Given the description of an element on the screen output the (x, y) to click on. 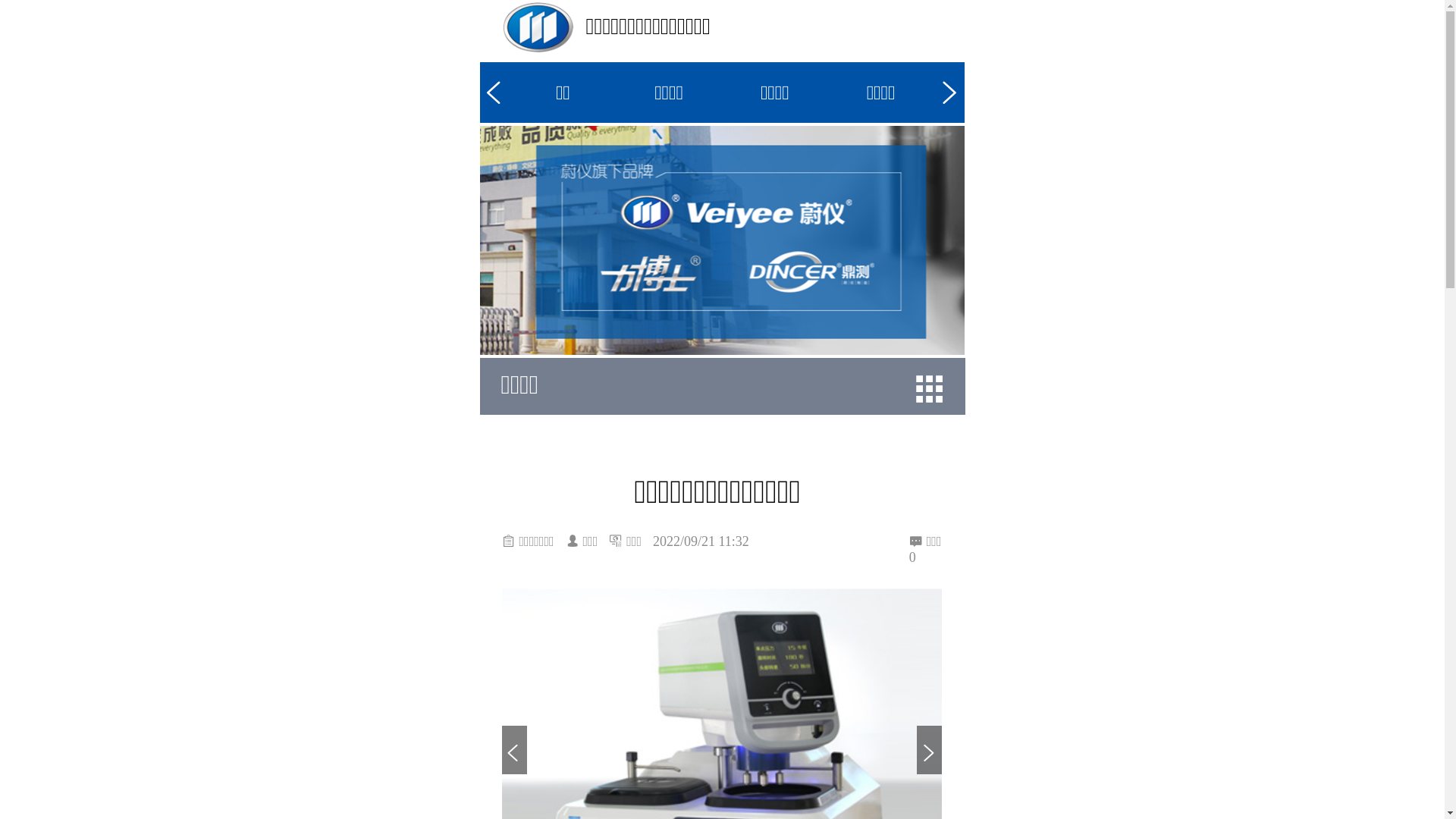
0 Element type: text (925, 557)
